Given the description of an element on the screen output the (x, y) to click on. 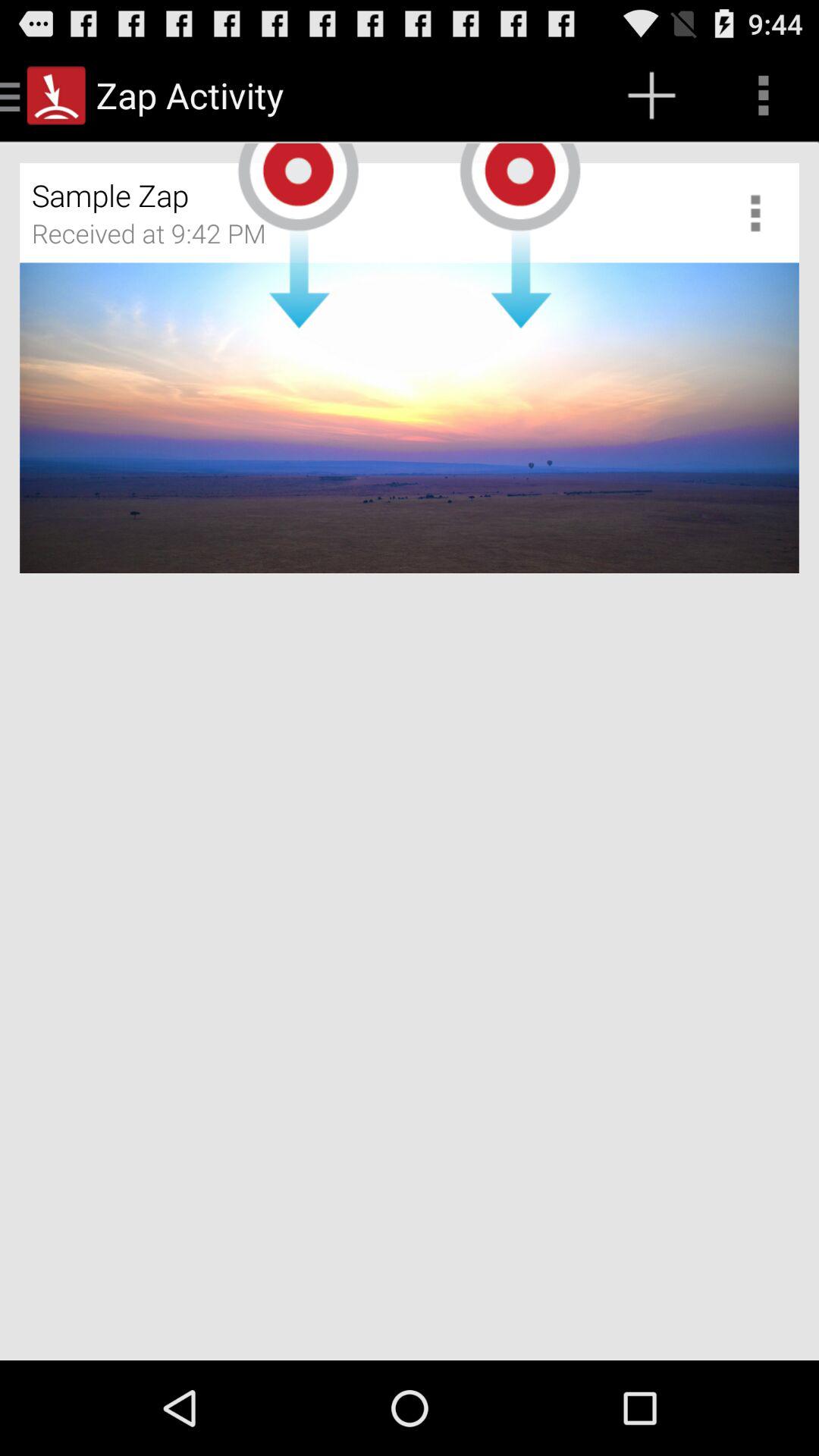
site settings (761, 212)
